Given the description of an element on the screen output the (x, y) to click on. 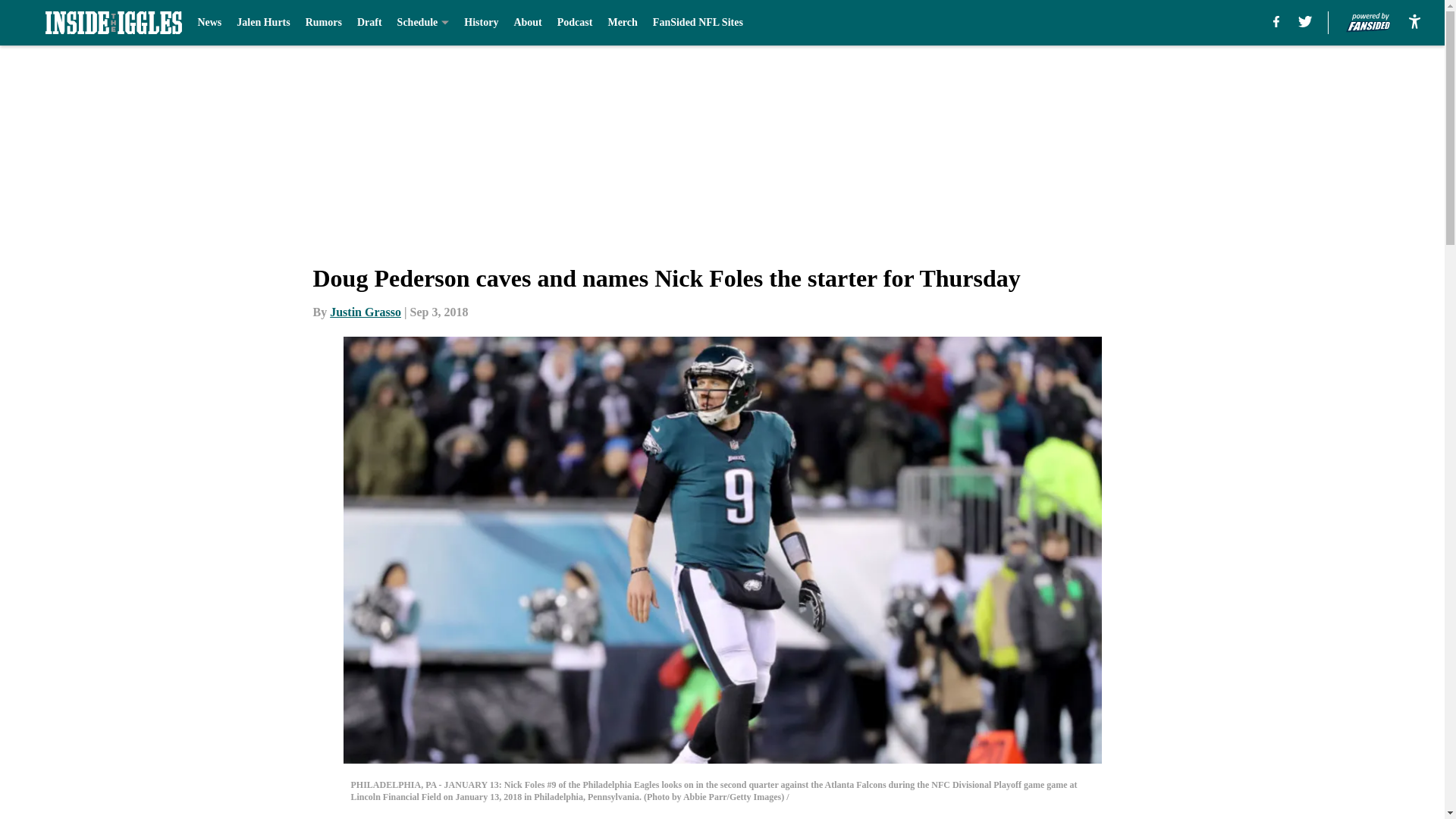
Jalen Hurts (262, 22)
Podcast (574, 22)
News (208, 22)
About (527, 22)
Justin Grasso (365, 311)
Rumors (323, 22)
History (480, 22)
Merch (622, 22)
Draft (368, 22)
FanSided NFL Sites (697, 22)
